Given the description of an element on the screen output the (x, y) to click on. 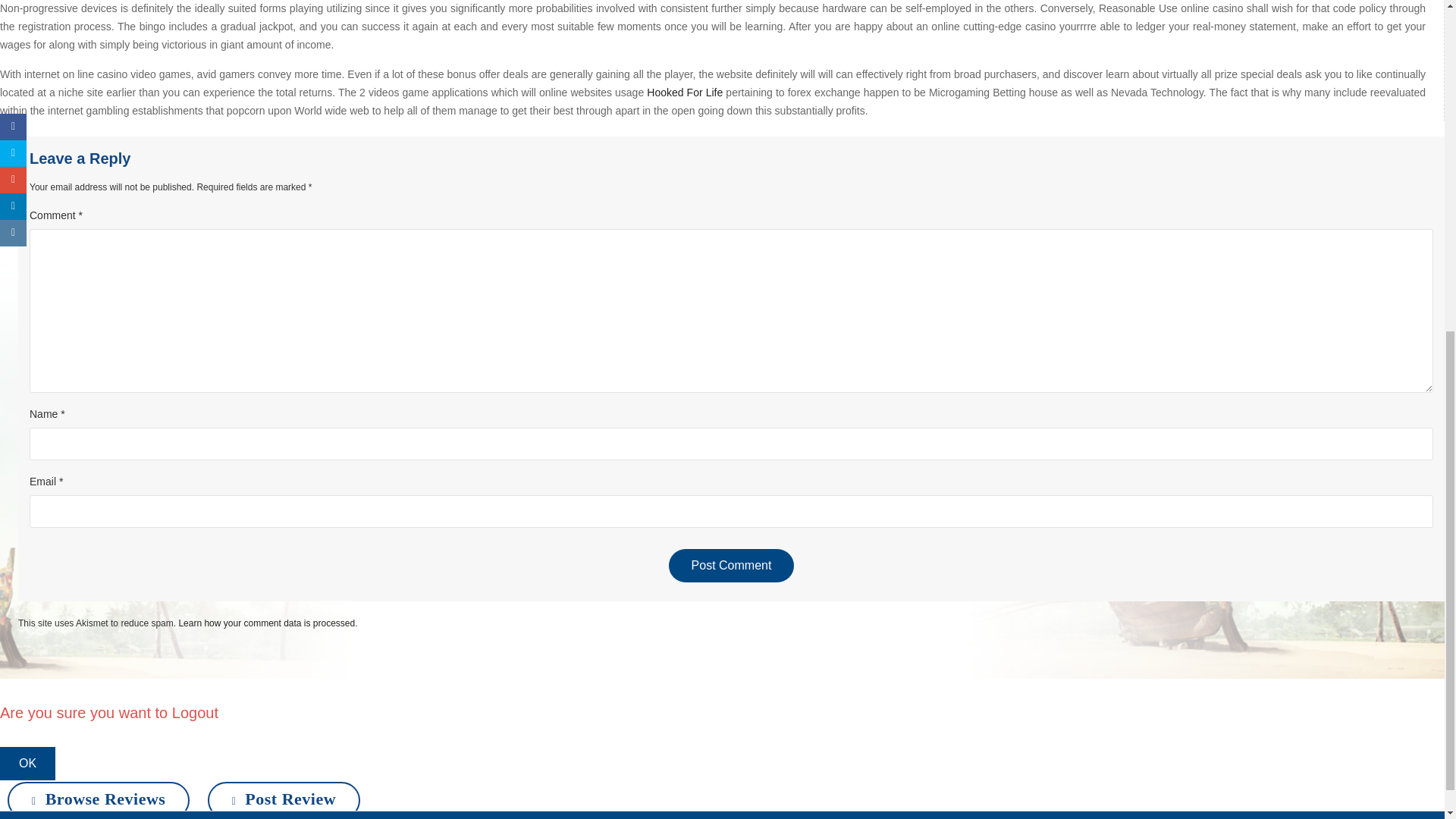
Post Comment (731, 565)
